Given the description of an element on the screen output the (x, y) to click on. 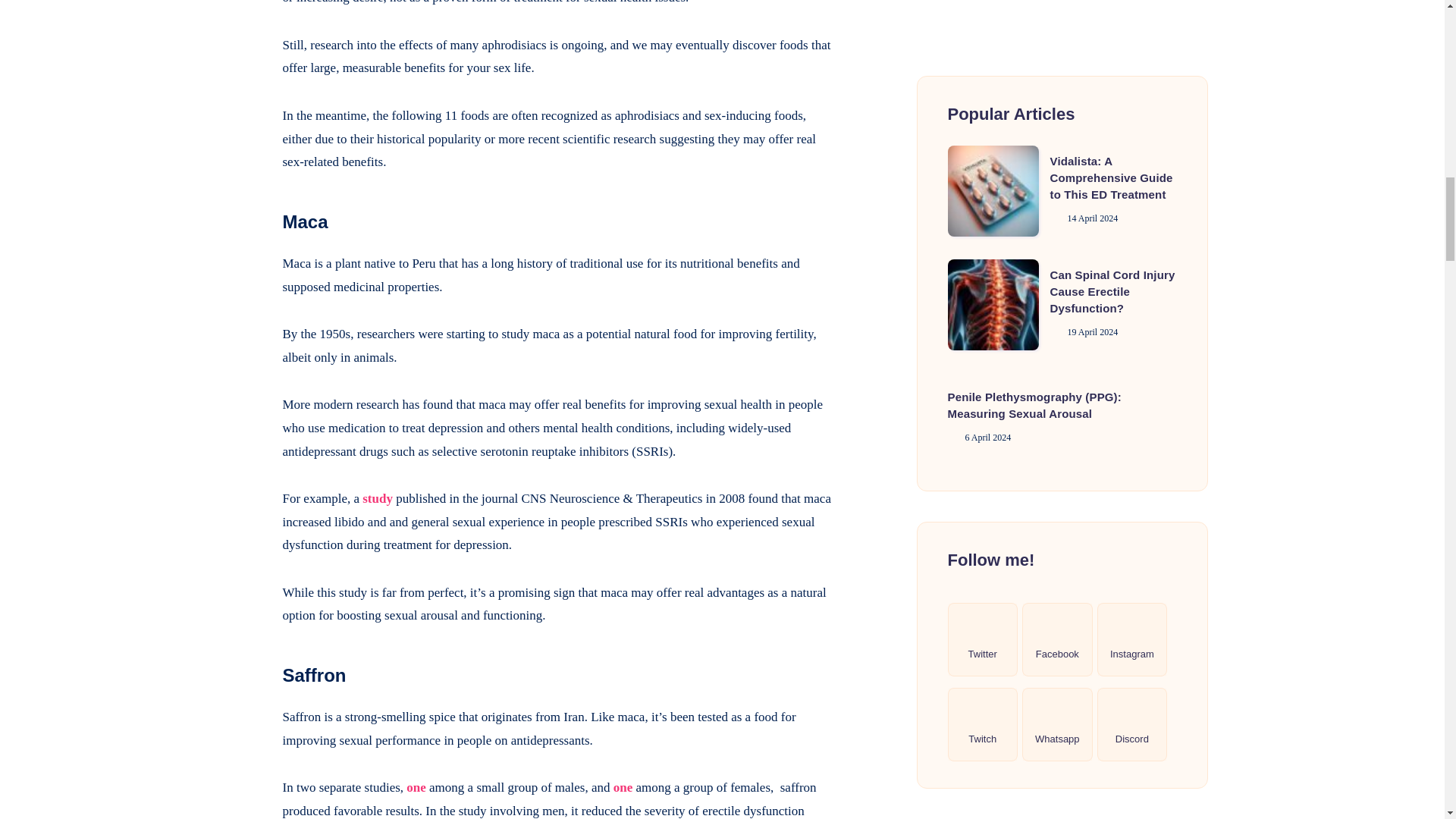
one (416, 787)
study (377, 498)
one (622, 787)
